Given the description of an element on the screen output the (x, y) to click on. 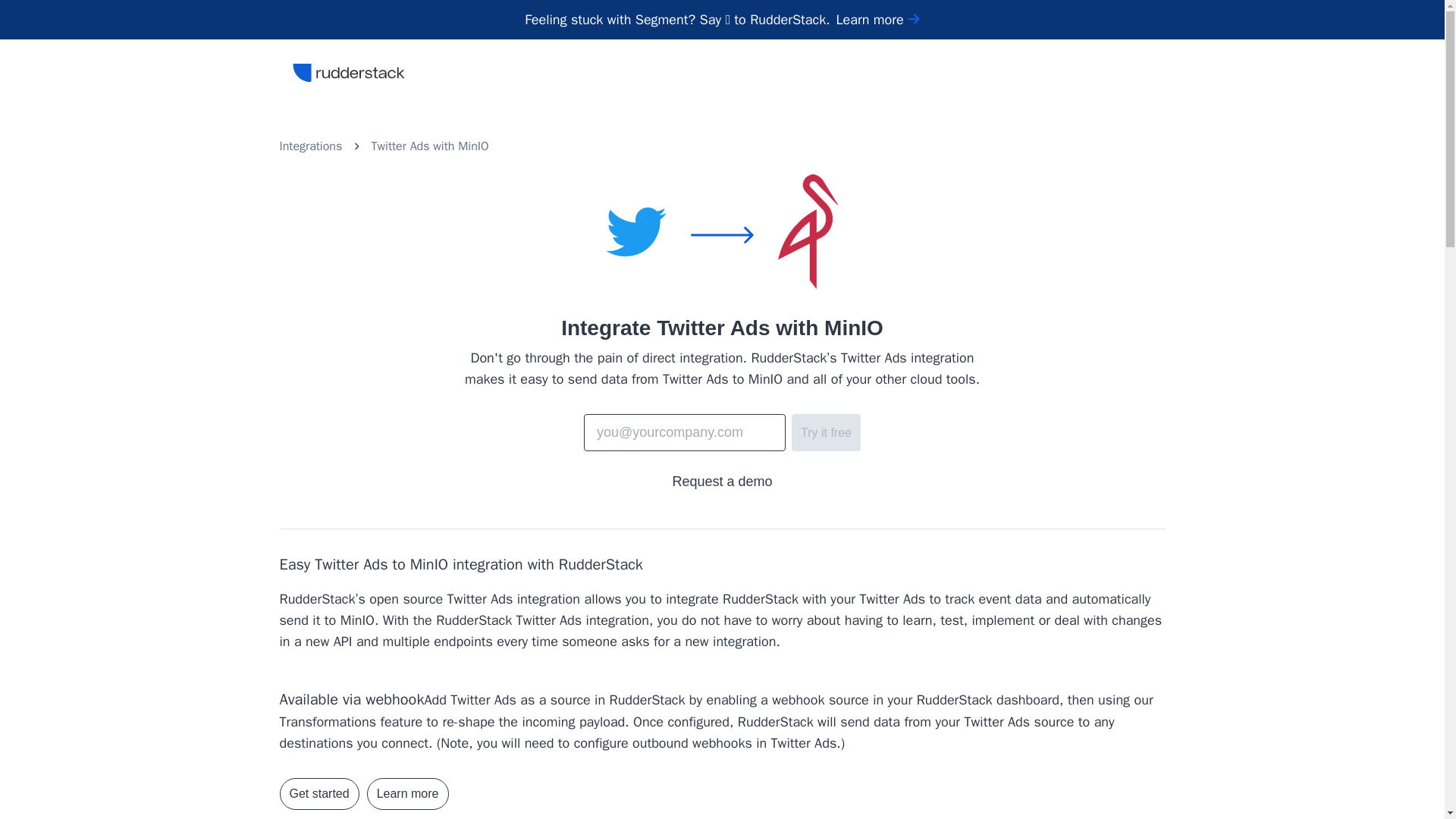
Learn more (407, 793)
Try it free (826, 432)
Request a demo (721, 481)
MinIO (472, 145)
Learn more (877, 19)
Twitter Ads (400, 145)
Integrations (310, 145)
Get started (318, 793)
